Given the description of an element on the screen output the (x, y) to click on. 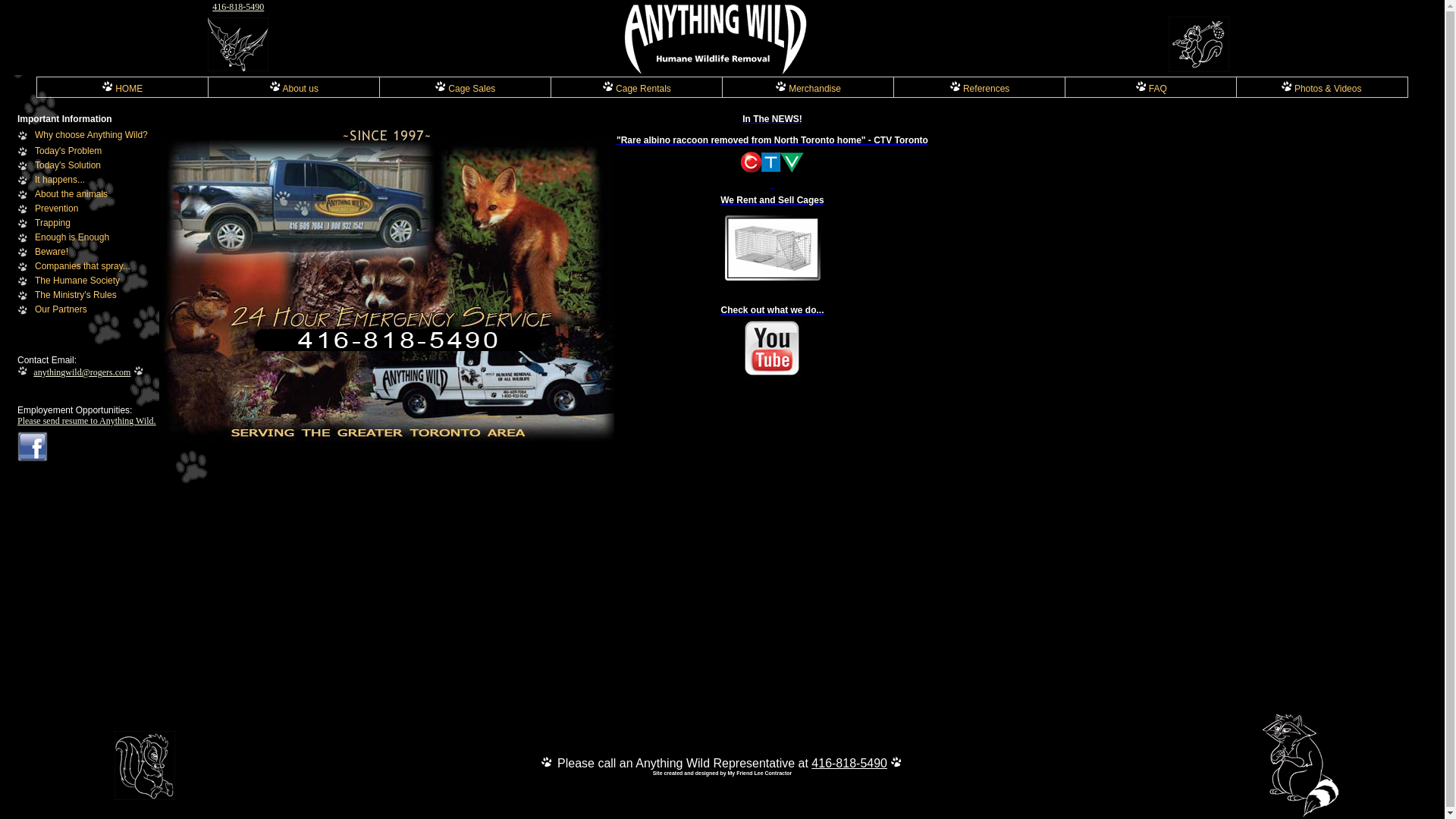
416-818-5490 Element type: text (849, 762)
The Ministry's Rules Element type: text (75, 294)
Companies that spray... Element type: text (82, 265)
anythingwild@rogers.com Element type: text (81, 372)
Photos & Videos Element type: text (1320, 88)
FAQ Element type: text (1151, 88)
The Humane Society Element type: text (76, 280)
Cage Rentals Element type: text (636, 88)
Please send resume to Anything Wild. Element type: text (86, 420)
Today's Problem Element type: text (67, 150)
Trapping Element type: text (52, 222)
About the animals Element type: text (70, 193)
About us Element type: text (293, 88)
References Element type: text (979, 88)
Merchandise Element type: text (807, 88)
Cage Sales Element type: text (464, 88)
Today's Solution Element type: text (67, 165)
Beware! Element type: text (51, 251)
HOME Element type: text (121, 88)
Check out what we do... Element type: text (772, 341)
Why choose Anything Wild? Element type: text (90, 134)
It happens... Element type: text (59, 179)
We Rent and Sell Cages Element type: text (772, 246)
Enough is Enough Element type: text (71, 237)
416-818-5490 Element type: text (237, 6)
Prevention Element type: text (56, 208)
Our Partners Element type: text (60, 309)
